Given the description of an element on the screen output the (x, y) to click on. 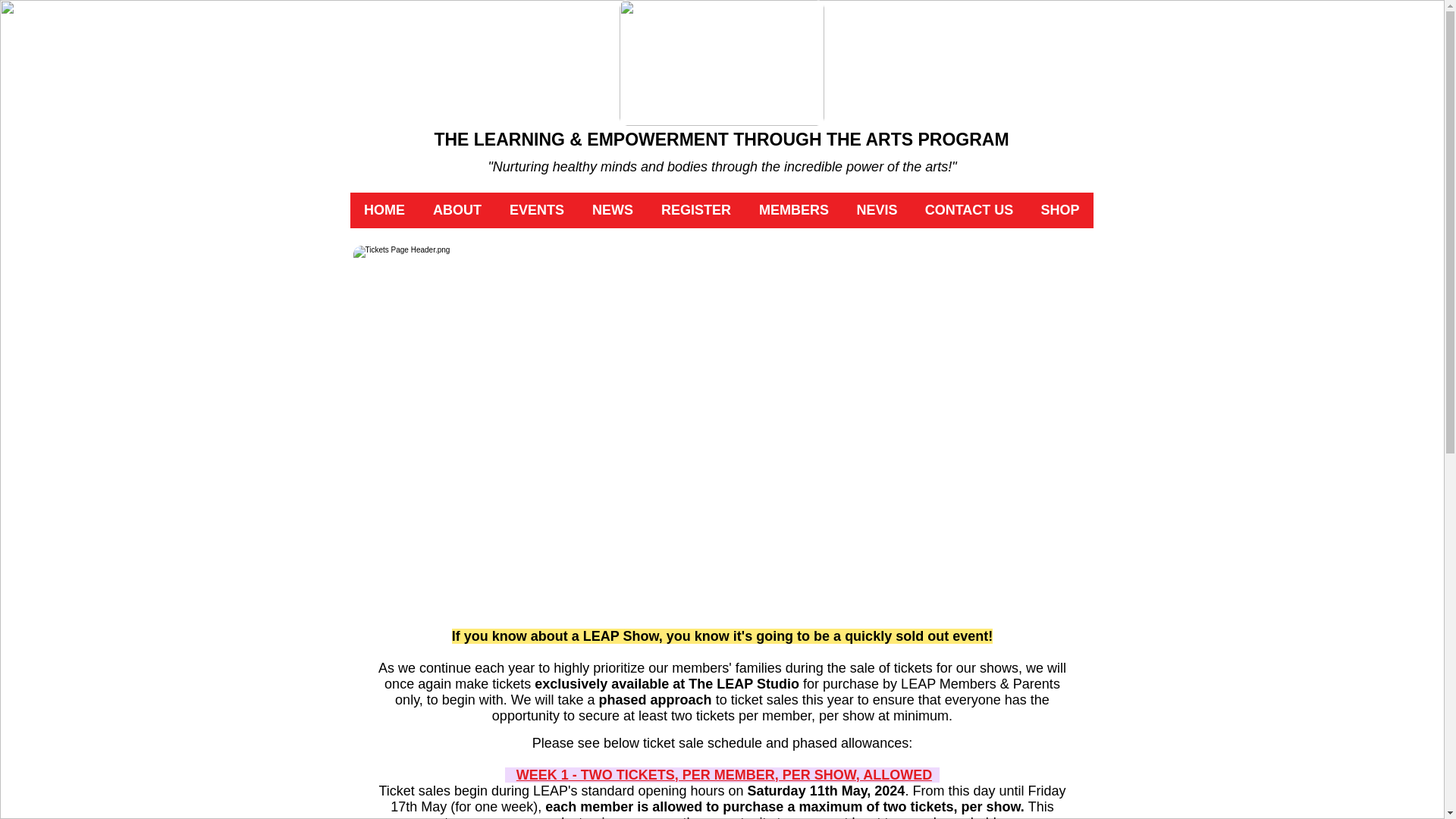
ABOUT (457, 210)
NEWS (612, 210)
CONTACT US (969, 210)
MEMBERS (793, 210)
NEVIS (877, 210)
SHOP (1059, 210)
HOME (384, 210)
EVENTS (537, 210)
REGISTER (696, 210)
